Given the description of an element on the screen output the (x, y) to click on. 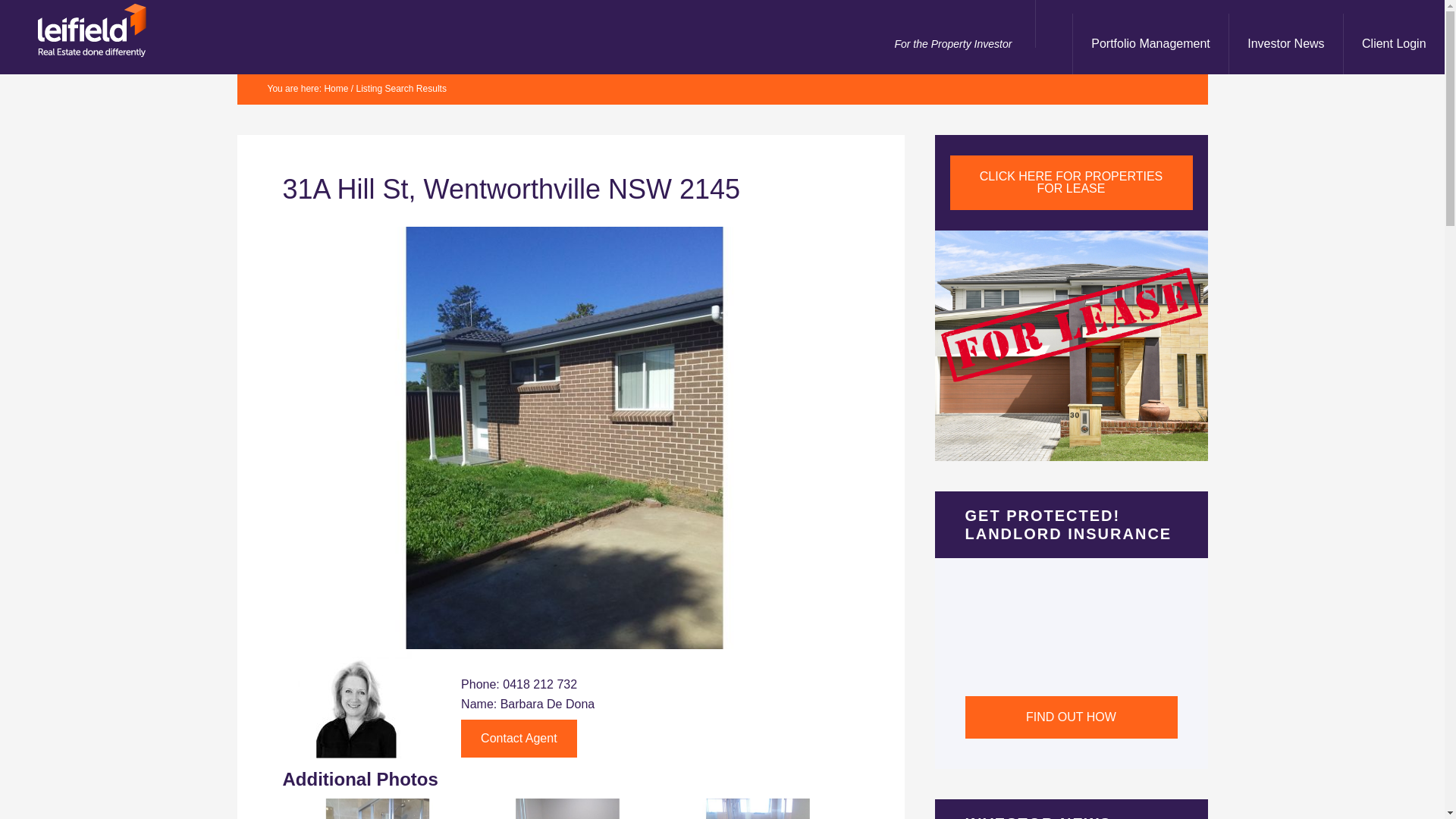
Leifield Element type: text (136, 30)
For the Property Investor Element type: text (952, 43)
CLICK HERE FOR PROPERTIES FOR LEASE Element type: text (1070, 181)
Home Element type: text (335, 88)
Portfolio Management Element type: text (1150, 43)
Investor News Element type: text (1285, 43)
FIND OUT HOW Element type: text (1070, 717)
Contact Agent Element type: text (519, 738)
Client Login  Element type: text (1395, 43)
31A Hill St, Wentworthville NSW 2145 Element type: hover (563, 653)
